Given the description of an element on the screen output the (x, y) to click on. 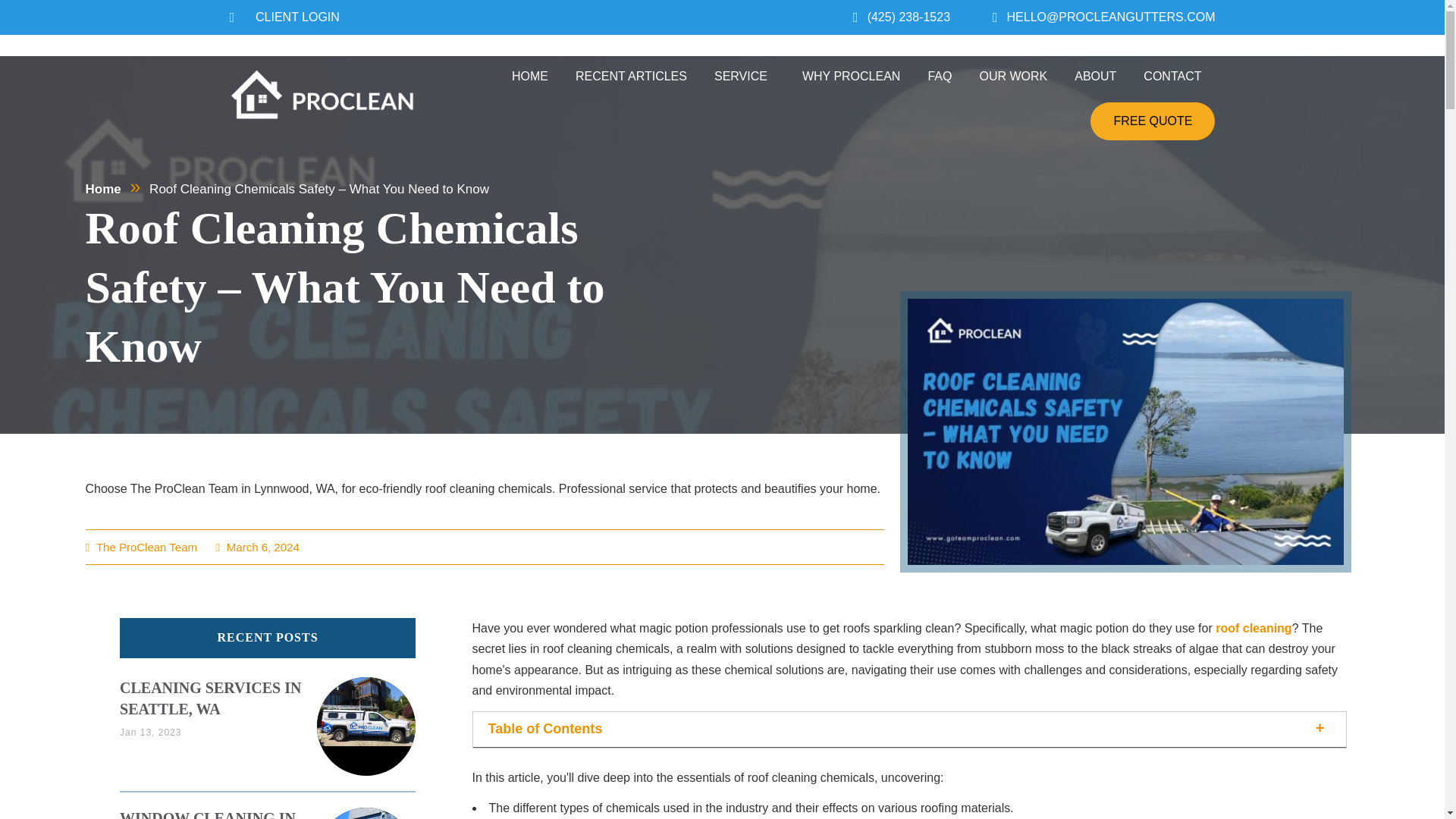
ABOUT (1095, 76)
CONTACT (1171, 76)
CLEANING SERVICES IN SEATTLE, WA (210, 698)
Proclean white logo - The ProClean Team (321, 94)
HOME (529, 76)
RECENT ARTICLES (631, 76)
FREE QUOTE (1152, 121)
Cleaning Services in Seattle, WA (210, 698)
CLIENT LOGIN (283, 17)
OUR WORK (1013, 76)
FAQ (939, 76)
Home (102, 188)
Window Cleaning in Seattle WA (207, 814)
roof cleaning chemicals - The ProClean Team (1125, 428)
WINDOW CLEANING IN SEATTLE WA (207, 814)
